Given the description of an element on the screen output the (x, y) to click on. 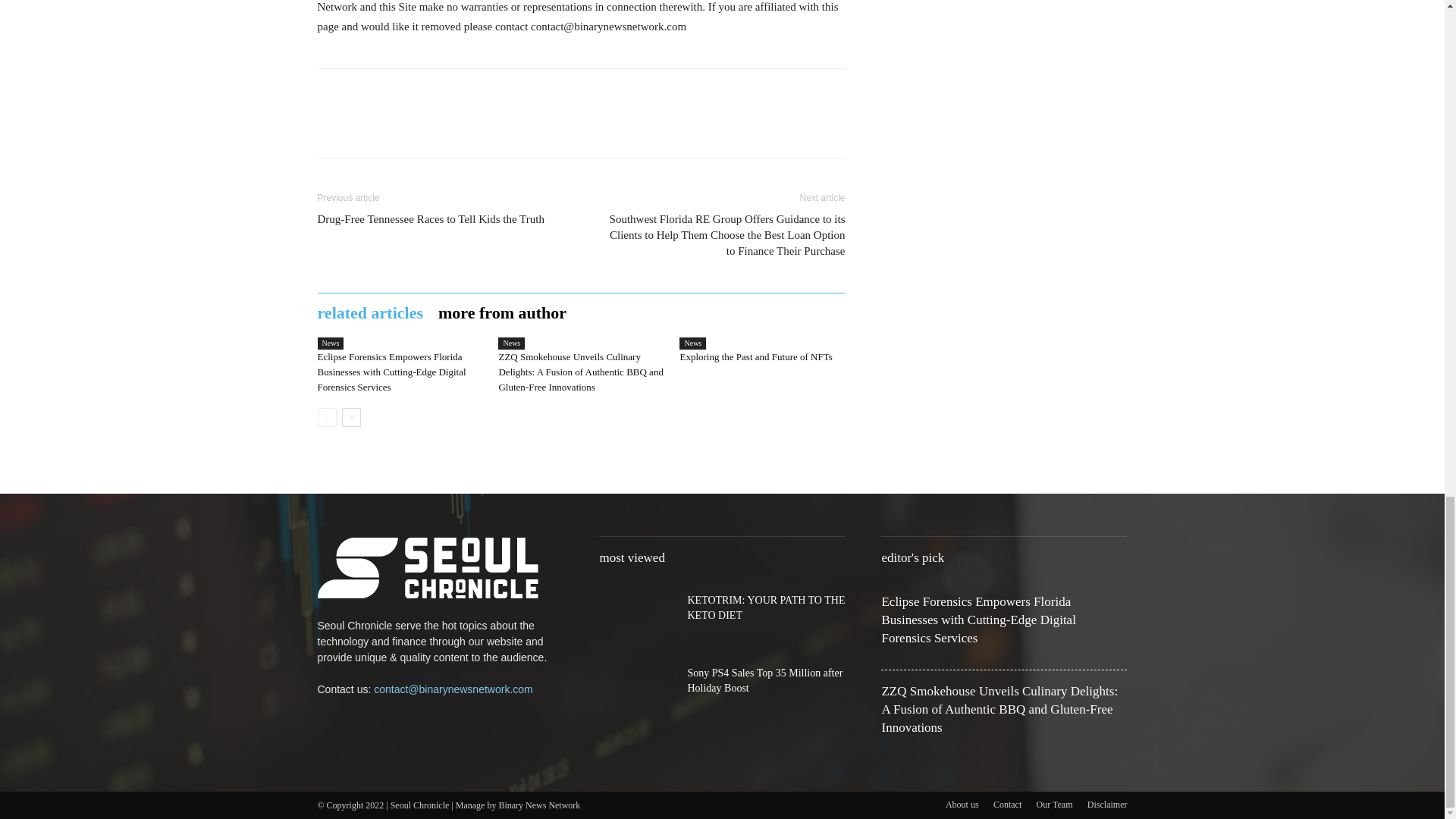
bottomFacebookLike (430, 92)
Exploring the Past and Future of NFTs (755, 356)
